Given the description of an element on the screen output the (x, y) to click on. 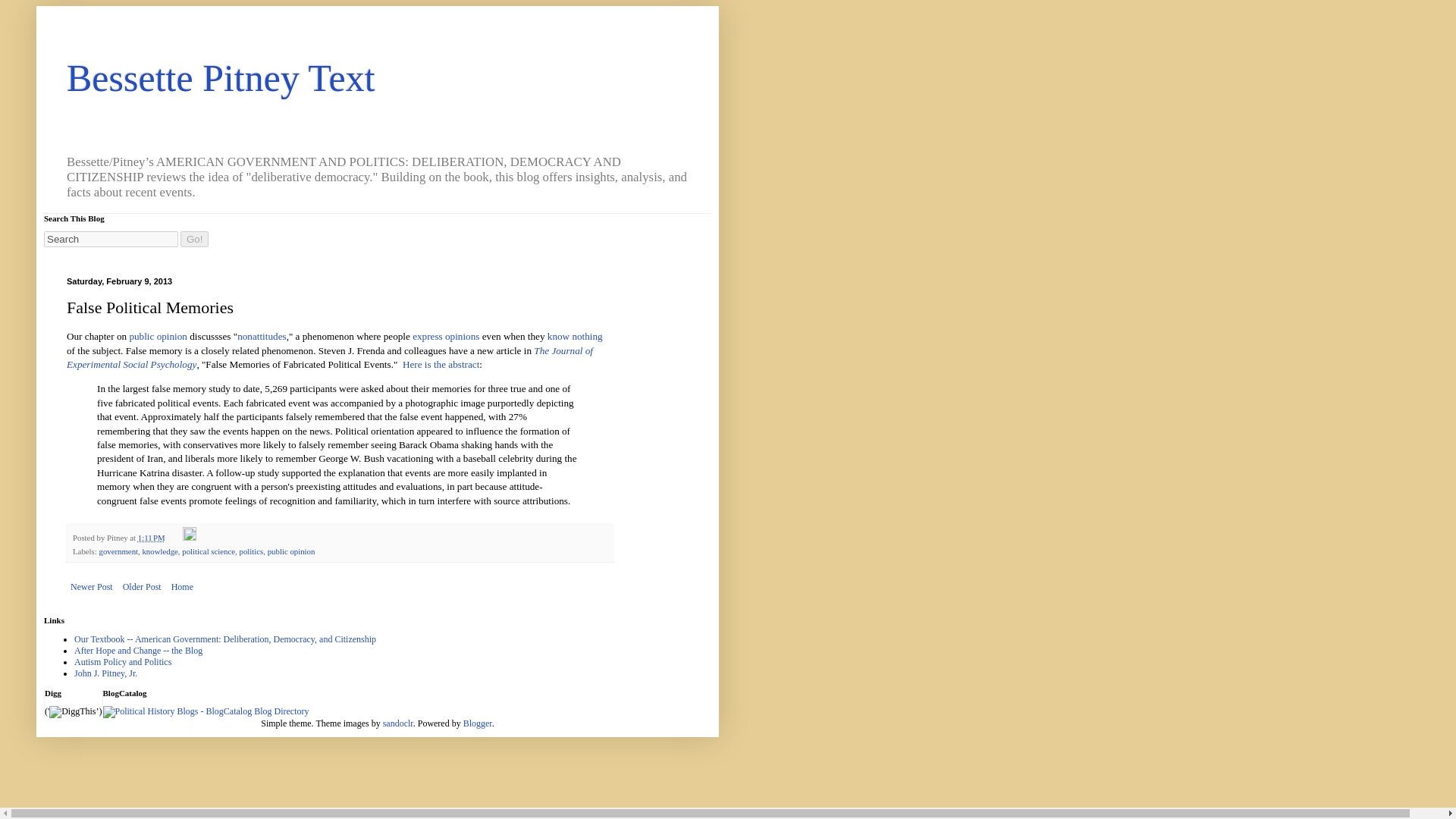
permanent link (151, 537)
Newer Post (91, 587)
public opinion (158, 336)
Bessette Pitney Text (220, 77)
Political History Blogs - BlogCatalog Blog Directory (205, 710)
Blogger (477, 723)
knowledge (159, 551)
Here is the abstract (441, 364)
Autism Policy and Politics (122, 661)
sandoclr (397, 723)
Edit Post (189, 537)
Go! (194, 238)
public opinion (291, 551)
know nothing (574, 336)
